Given the description of an element on the screen output the (x, y) to click on. 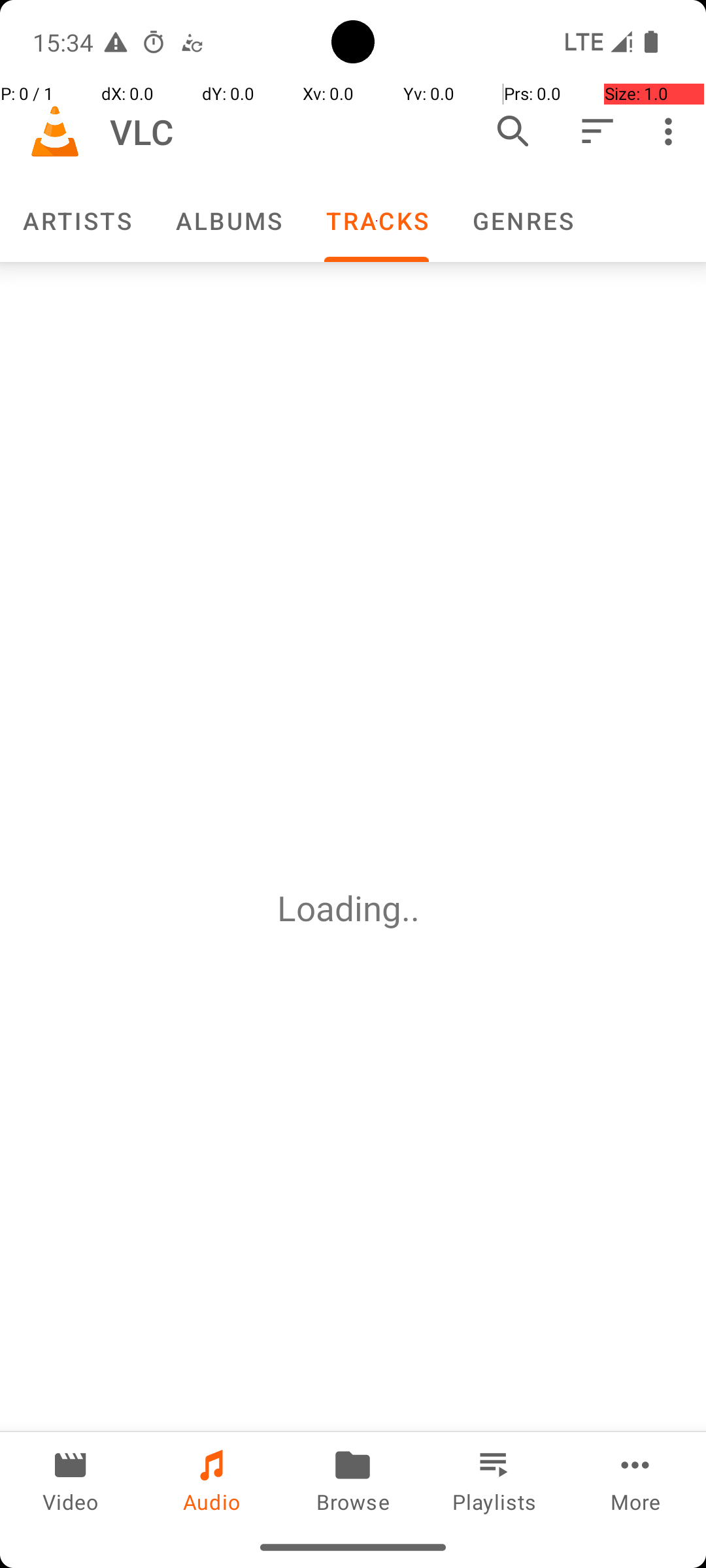
.. Element type: android.widget.TextView (414, 907)
VLC notification: Scanning for media files Element type: android.widget.ImageView (191, 41)
